Given the description of an element on the screen output the (x, y) to click on. 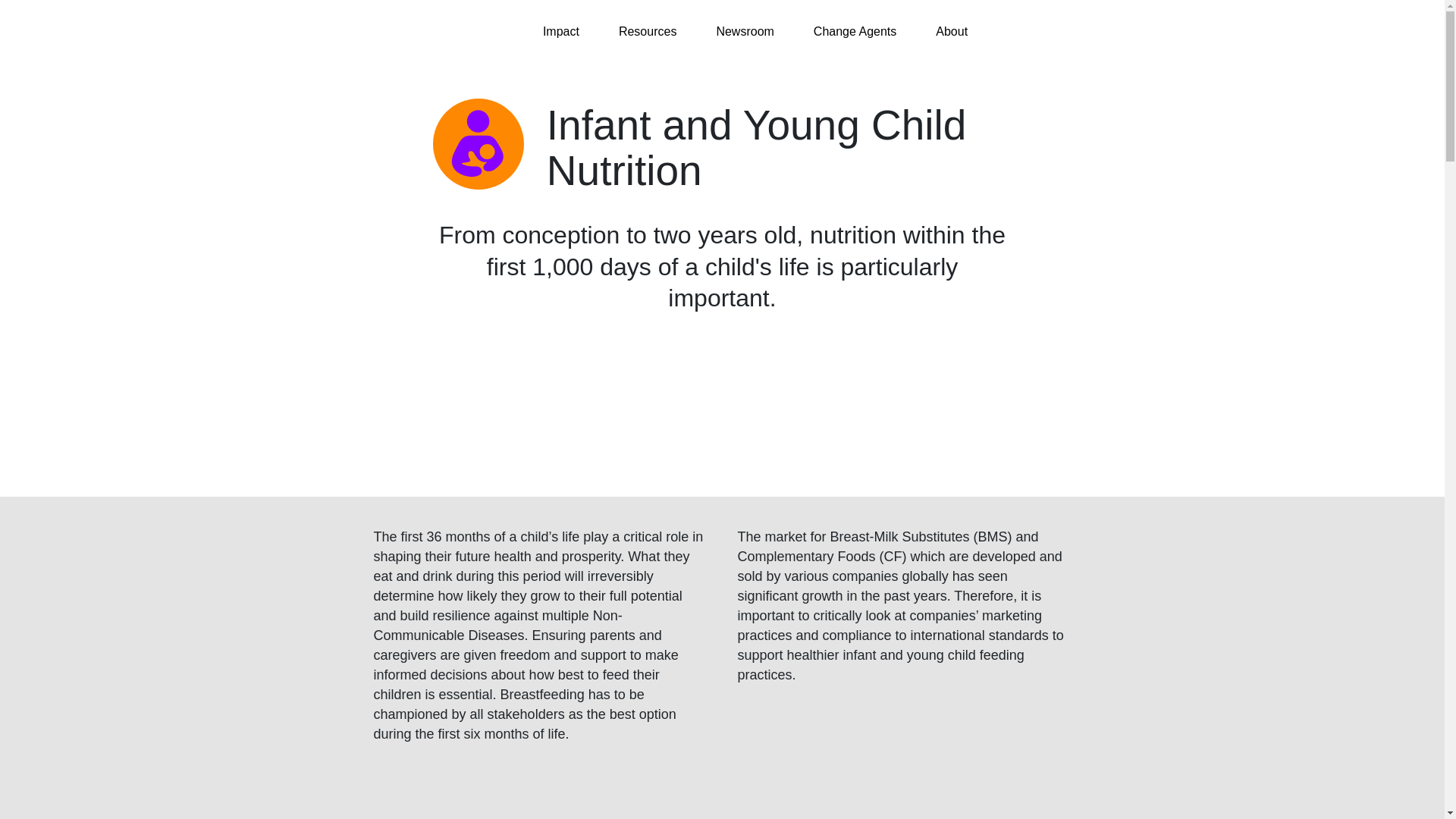
Open search page (1070, 31)
Skip to main content (15, 7)
Resources (654, 31)
Change Agents (862, 31)
Newsroom (752, 31)
Access to nutrition (414, 31)
